Given the description of an element on the screen output the (x, y) to click on. 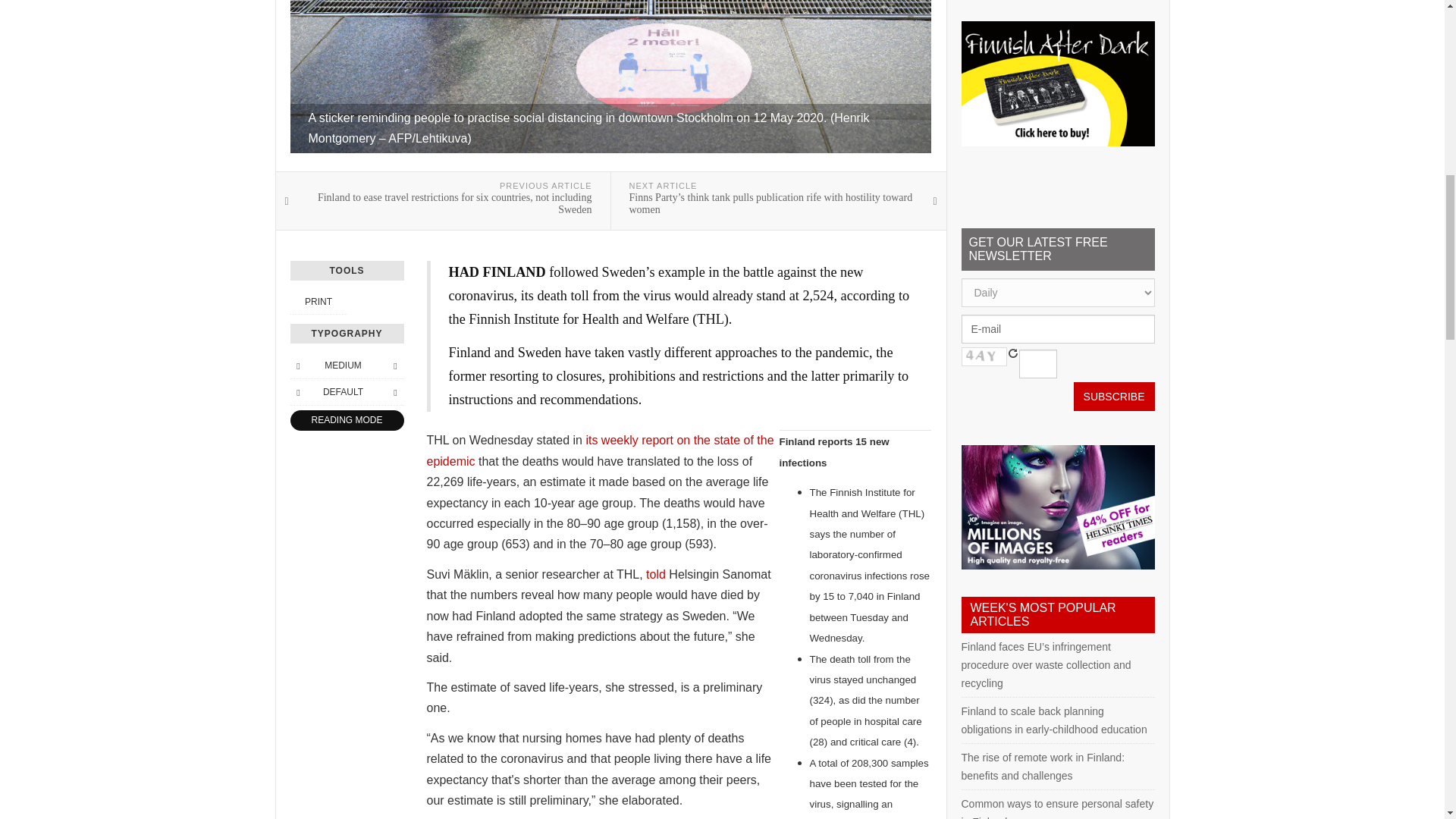
E-mail (1057, 328)
Advertisement (1057, 1)
Bigger Font (395, 365)
After-dark (1057, 83)
Smaller Font (297, 365)
Reading Mode (346, 420)
E-mail (1057, 328)
Print (317, 301)
Subscribe (1114, 396)
The captcha is invalid, please try again (1038, 363)
The captcha is invalid, please try again (983, 356)
Next Font Style (395, 392)
Previous Font Style (297, 392)
